Given the description of an element on the screen output the (x, y) to click on. 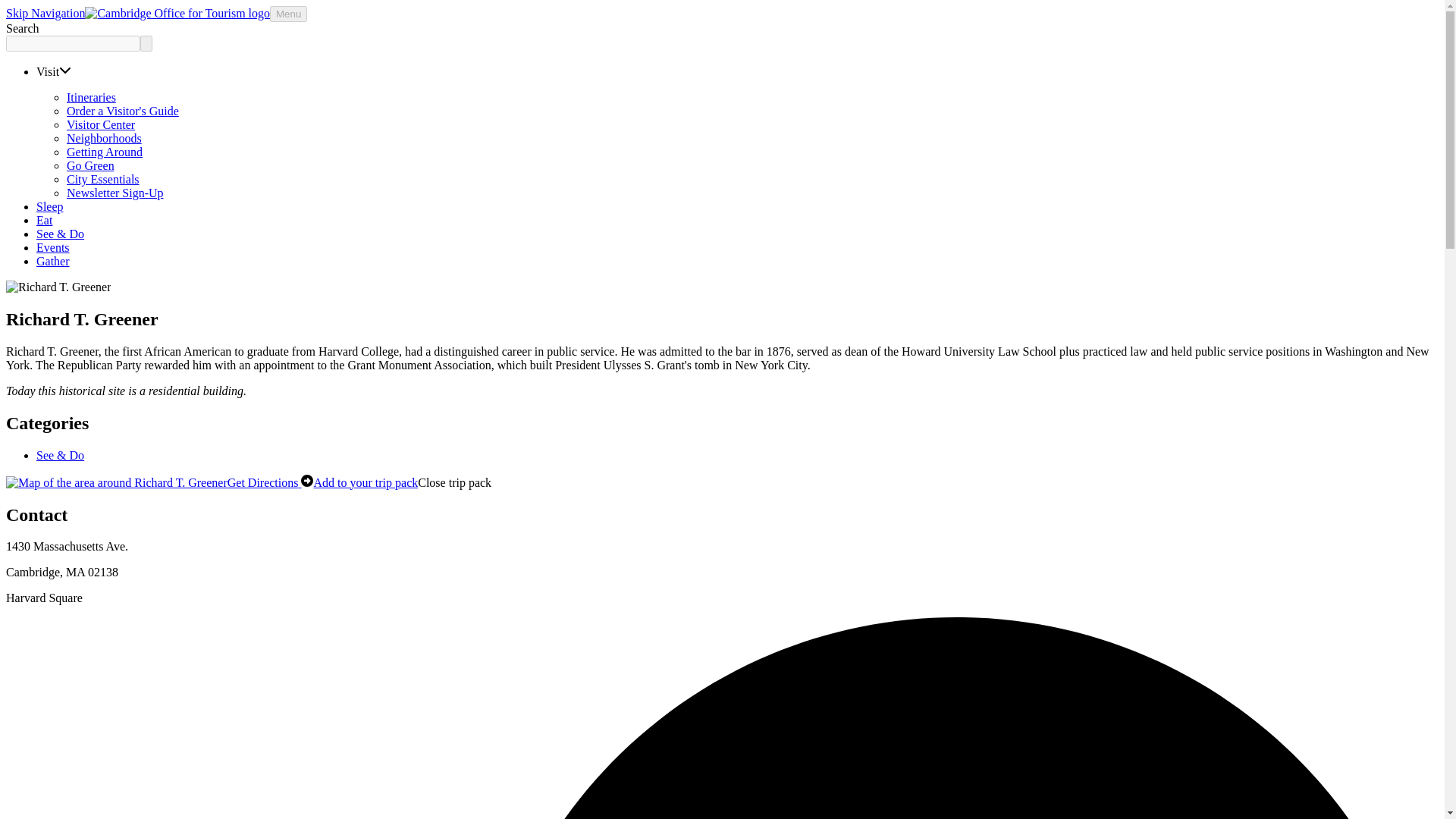
Visitor Center (100, 124)
City Essentials (102, 178)
Sleep (50, 205)
Itineraries (91, 97)
Get Directions (159, 481)
Order a Visitor's Guide (122, 110)
Close trip pack (454, 481)
Gather (52, 260)
Add to your trip pack (365, 481)
Eat (44, 219)
Getting Around (104, 151)
Skip Navigation (44, 12)
Go Green (90, 164)
Newsletter Sign-Up (114, 192)
Neighborhoods (103, 137)
